Given the description of an element on the screen output the (x, y) to click on. 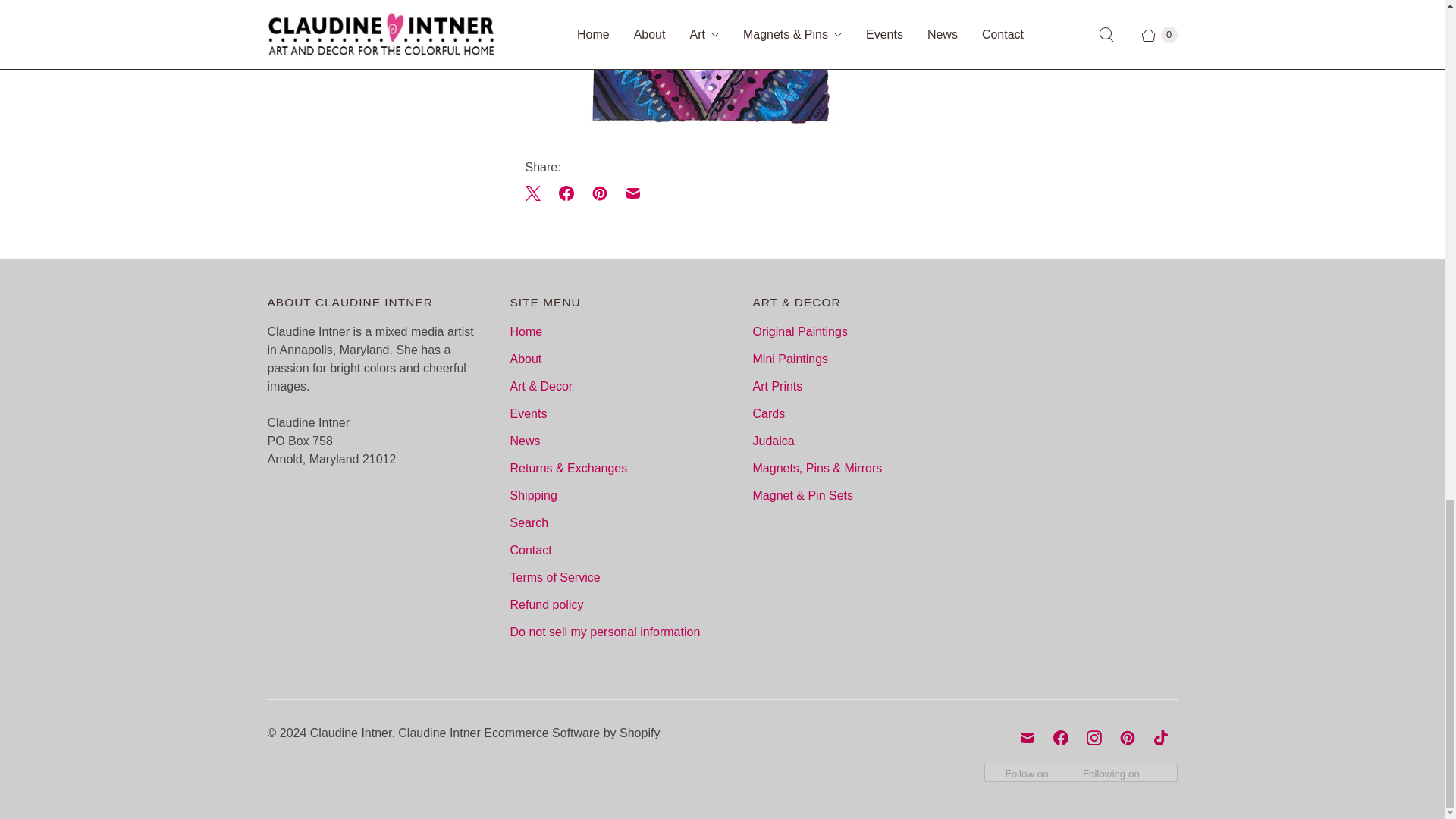
Share this on Facebook (565, 192)
Email this to a friend (632, 192)
Share this on Pinterest (598, 192)
